Given the description of an element on the screen output the (x, y) to click on. 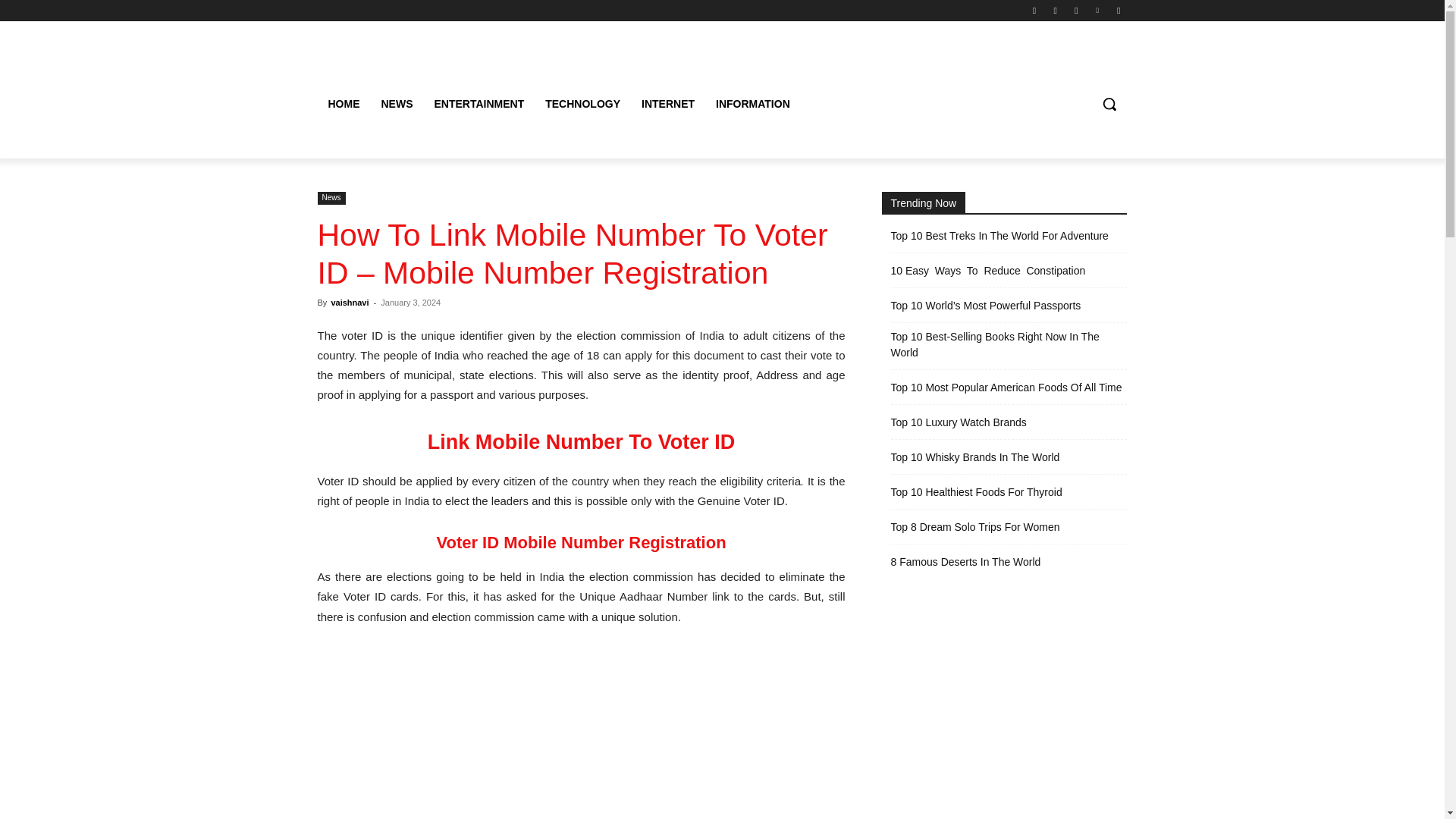
Instagram (1055, 9)
Facebook (1034, 9)
NEWS (396, 103)
Youtube (1117, 9)
ENTERTAINMENT (478, 103)
HOME (343, 103)
INFORMATION (752, 103)
INTERNET (667, 103)
vaishnavi (349, 302)
Vimeo (1097, 9)
News (331, 197)
Twitter (1075, 9)
TECHNOLOGY (582, 103)
